Given the description of an element on the screen output the (x, y) to click on. 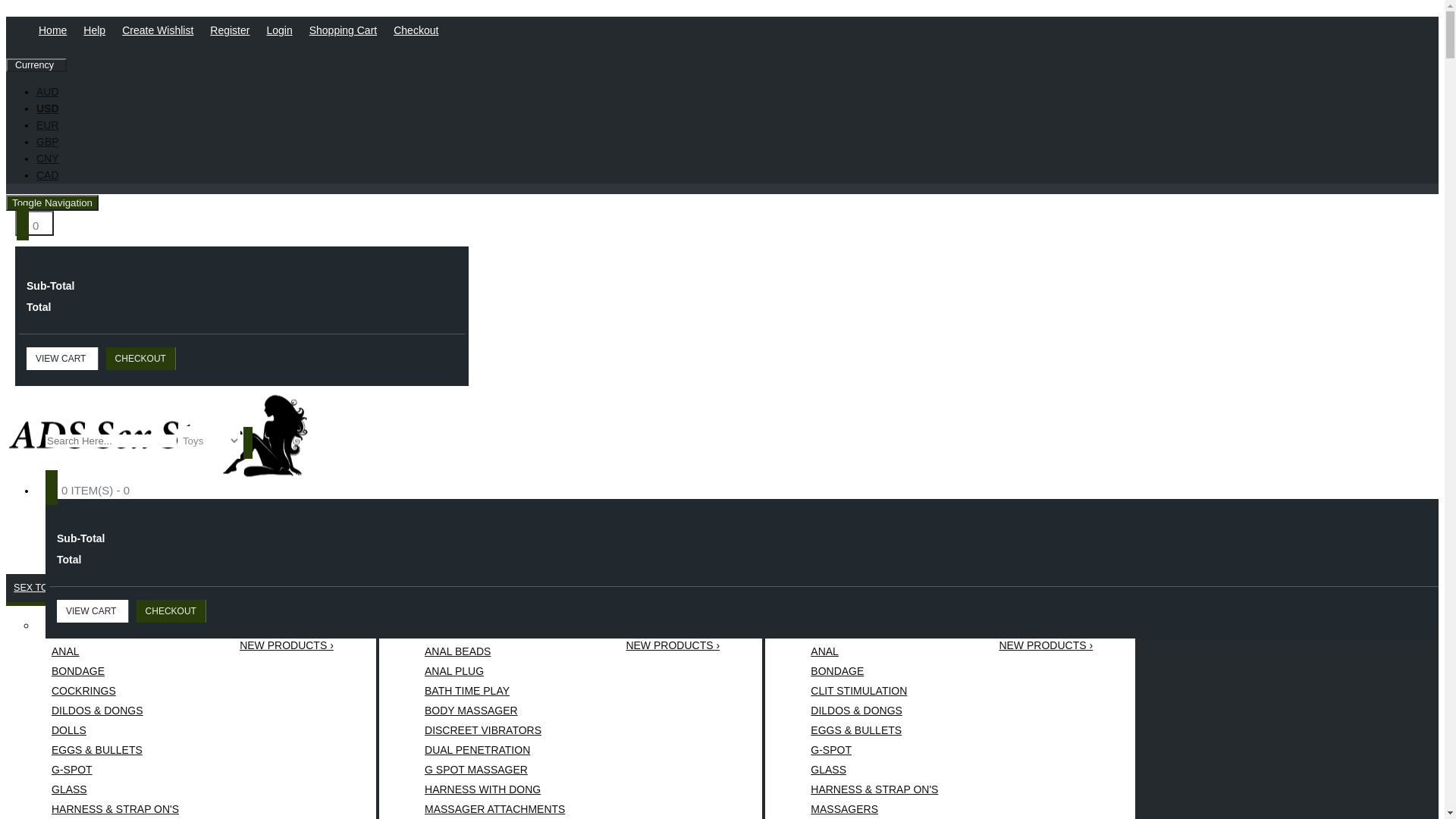
0 Element type: text (34, 222)
VIBRATORS Element type: text (413, 587)
GLASS Element type: text (874, 769)
G SPOT MASSAGER Element type: text (494, 769)
Currency Element type: text (36, 65)
ANAL PLUG Element type: text (494, 670)
HARNESS WITH DONG Element type: text (494, 789)
0 ITEM(S) - 0 Element type: text (97, 487)
DISCREET VIBRATORS Element type: text (494, 730)
G-SPOT Element type: text (115, 769)
Shopping Cart Element type: text (348, 29)
Create Wishlist Element type: text (161, 29)
Checkout Element type: text (420, 29)
EGGS & BULLETS Element type: text (874, 730)
AUD Element type: text (47, 91)
Advanced Search Element type: text (1404, 469)
CHECKOUT Element type: text (171, 610)
Register Element type: text (233, 29)
Home Element type: text (57, 29)
HARNESS & STRAP ON'S Element type: text (874, 789)
Login Element type: text (283, 29)
DUAL PENETRATION Element type: text (494, 749)
G-SPOT Element type: text (874, 749)
DOLLS Element type: text (115, 730)
BATH TIME PLAY Element type: text (494, 690)
GBP Element type: text (47, 141)
ANAL Element type: text (115, 651)
BONDAGE Element type: text (115, 670)
CLIT STIMULATION Element type: text (874, 690)
EUR Element type: text (47, 125)
SEX TOYS Element type: text (37, 587)
DILDOS & DONGS Element type: text (874, 710)
VIEW CART Element type: text (62, 358)
ADS Encounters Sex Store Element type: hover (159, 435)
CHECKOUT Element type: text (140, 358)
ANAL BEADS Element type: text (494, 651)
EGGS & BULLETS Element type: text (115, 749)
VIEW CART Element type: text (92, 610)
DILDOS & DONGS Element type: text (115, 710)
Toggle Navigation Element type: text (52, 202)
USD Element type: text (47, 108)
CAD Element type: text (47, 175)
Help Element type: text (98, 29)
BODY MASSAGER Element type: text (494, 710)
BONDAGE Element type: text (874, 670)
ANAL Element type: text (874, 651)
GLASS Element type: text (115, 789)
COCKRINGS Element type: text (115, 690)
CNY Element type: text (47, 158)
WOMEN'S TOYS Element type: text (809, 587)
